Given the description of an element on the screen output the (x, y) to click on. 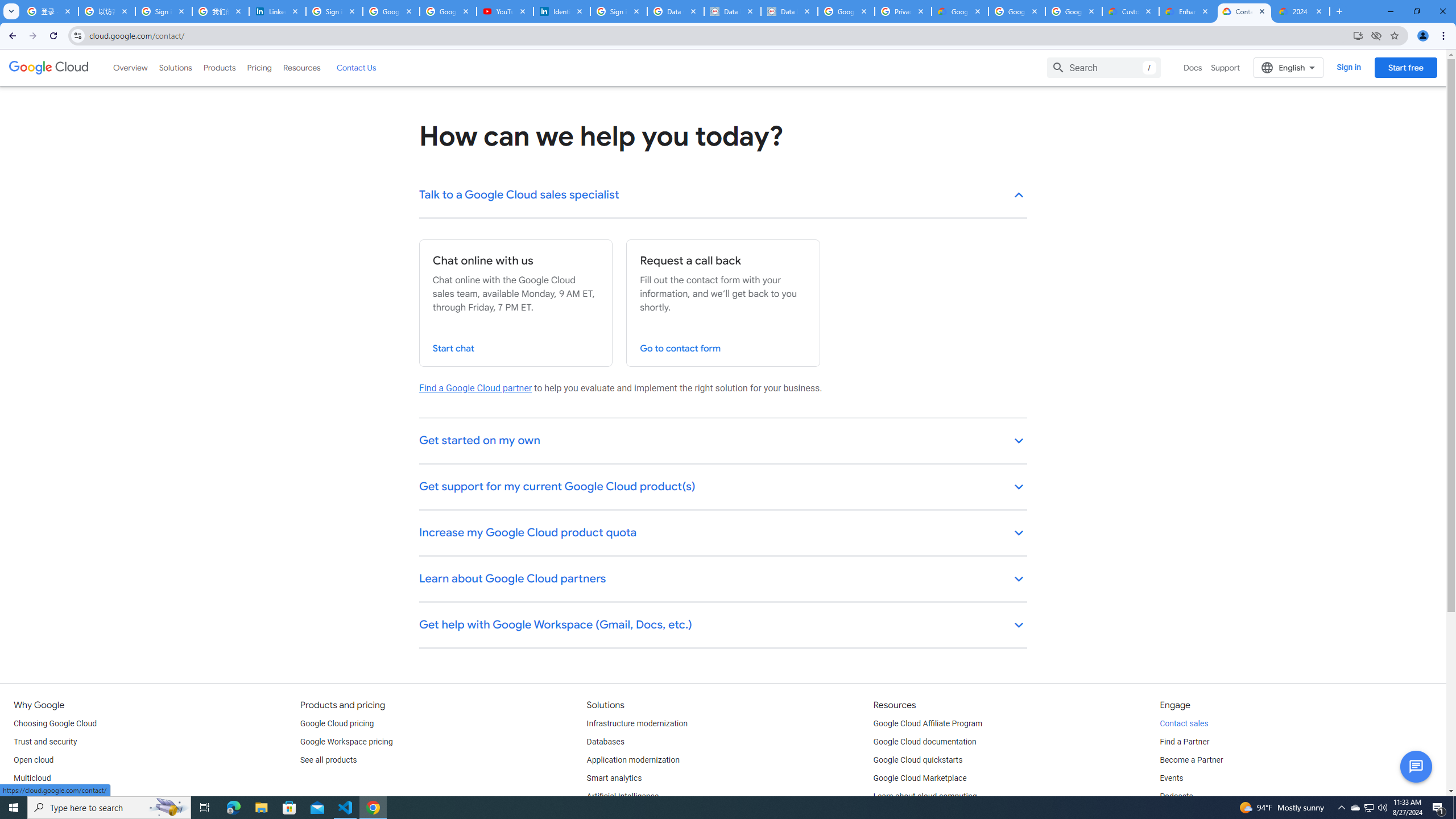
Talk to a Google Cloud sales specialist keyboard_arrow_up (723, 195)
Sign in - Google Accounts (618, 11)
Google Workspace - Specific Terms (1015, 11)
Search (1103, 67)
Choosing Google Cloud (55, 723)
English (1288, 67)
Google Workspace - Specific Terms (1073, 11)
Become a Partner (1190, 760)
See all products (327, 760)
Application modernization (632, 760)
Solutions (175, 67)
Google Cloud Marketplace (919, 778)
